Given the description of an element on the screen output the (x, y) to click on. 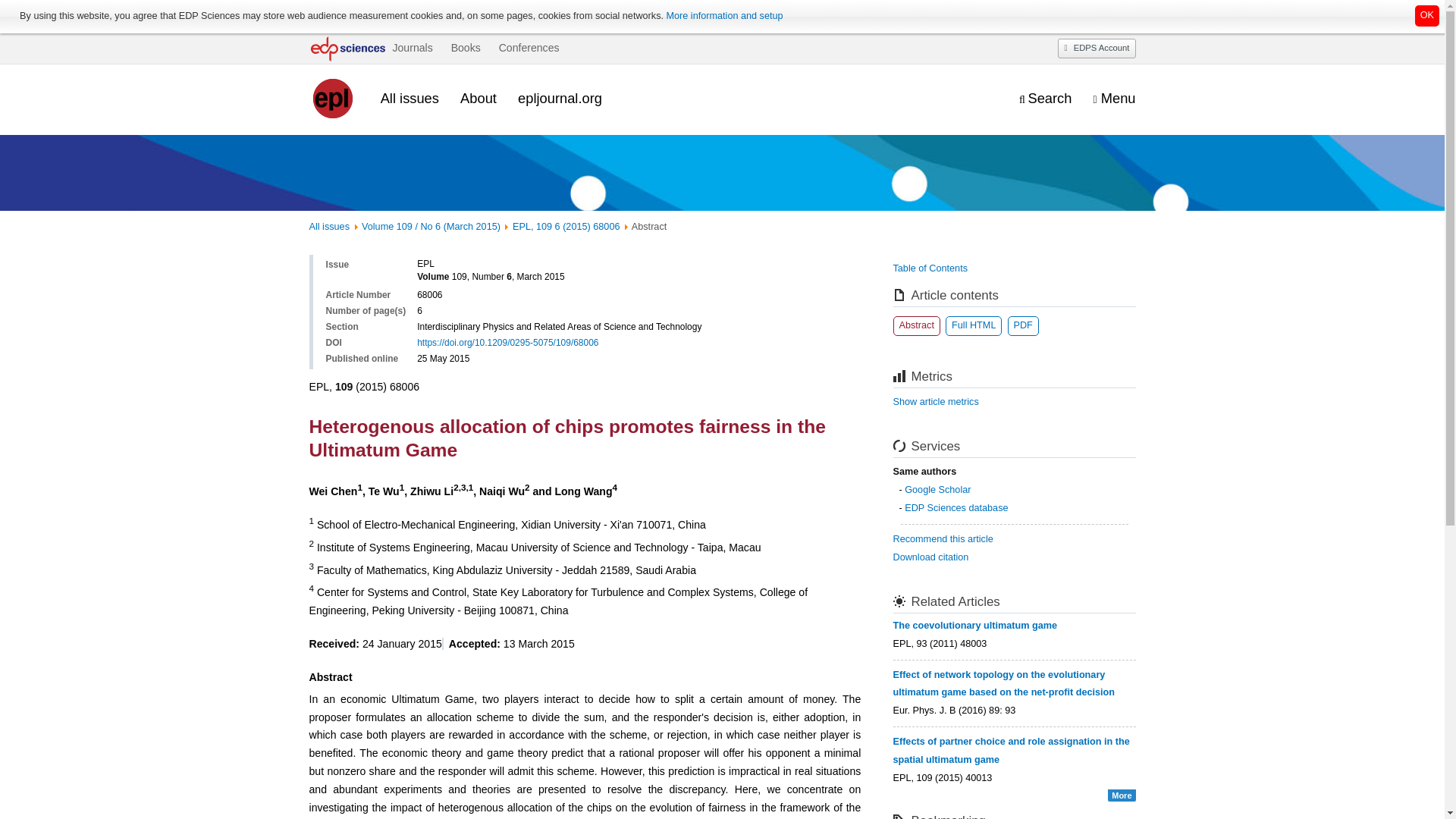
Click to close this notification (1427, 15)
Menu (1114, 98)
PDF (1022, 325)
Display the search engine (1045, 98)
Conferences (529, 47)
All issues (328, 226)
Journals (411, 47)
OK (1427, 15)
Journal homepage (333, 99)
Books (465, 47)
More information and setup (724, 15)
About (478, 98)
Abstract (916, 325)
Full HTML (972, 325)
All issues (409, 98)
